Given the description of an element on the screen output the (x, y) to click on. 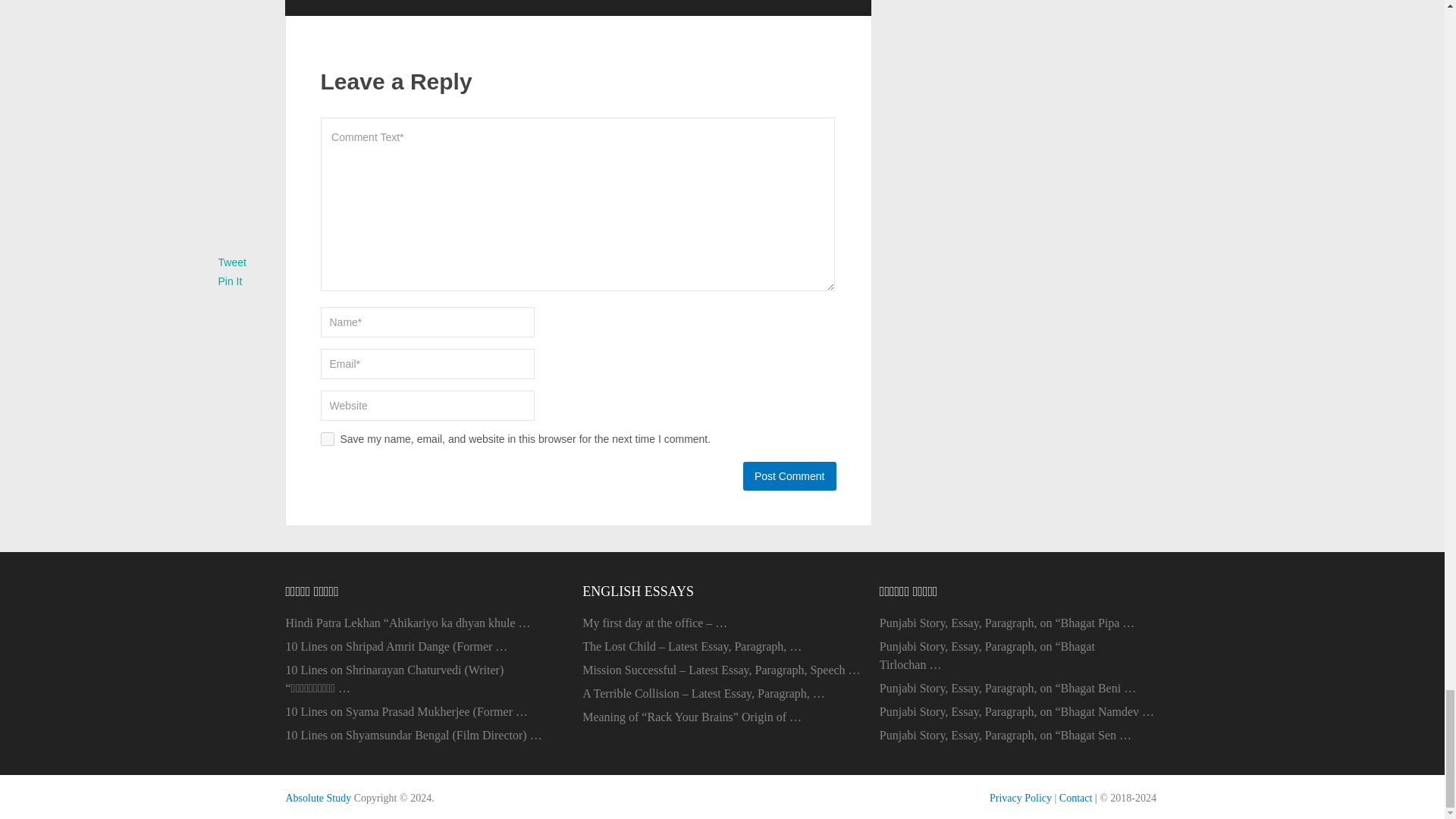
Post Comment (788, 475)
yes (326, 438)
